Given the description of an element on the screen output the (x, y) to click on. 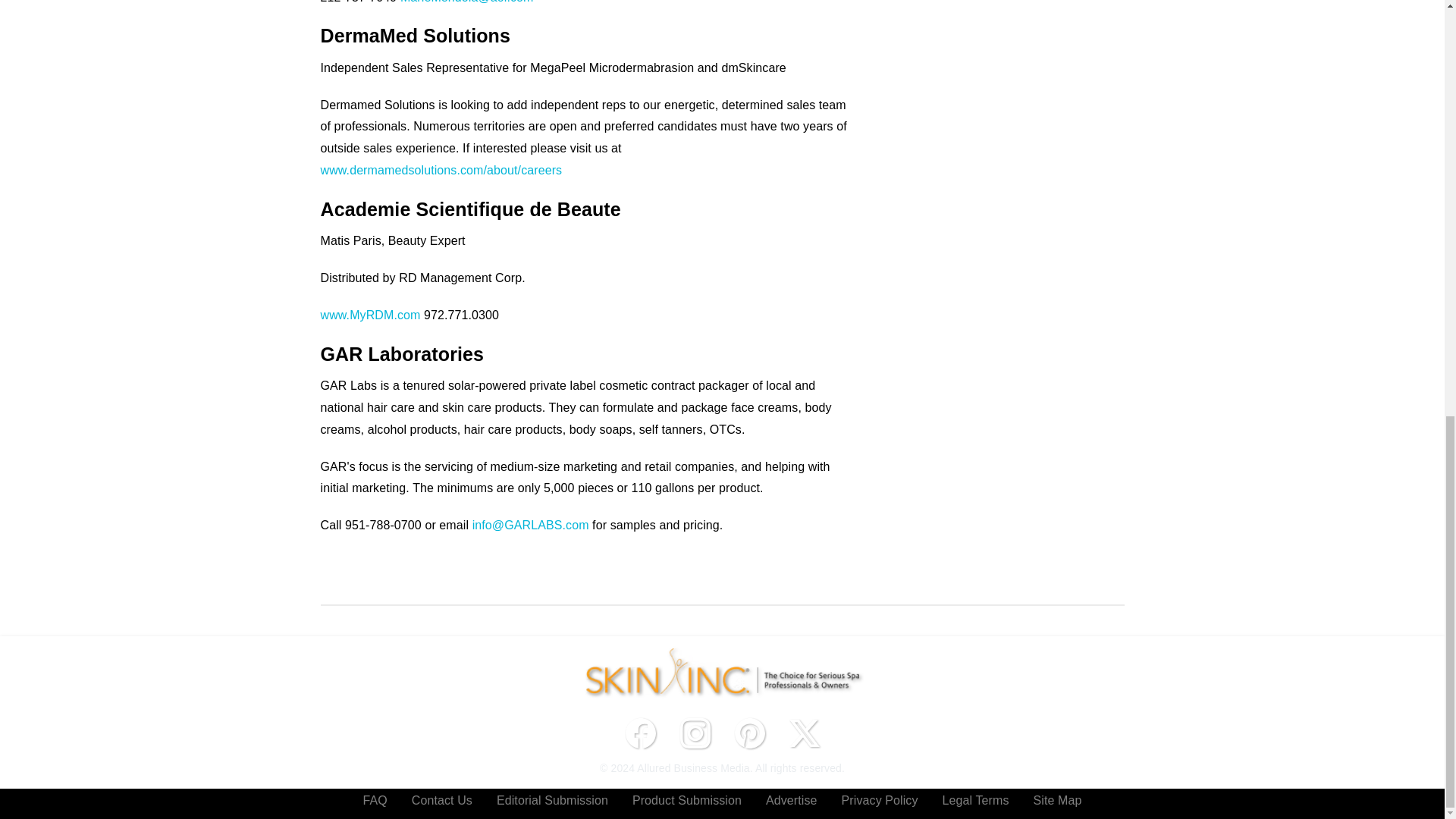
Instagram icon (694, 733)
Visit us on Twitter (803, 733)
Pinterest icon (748, 733)
Visit us on Facebook (639, 733)
Visit us on Pinterest (748, 733)
Visit us on Instagram (694, 733)
Facebook icon (639, 733)
Twitter X icon (803, 733)
